Given the description of an element on the screen output the (x, y) to click on. 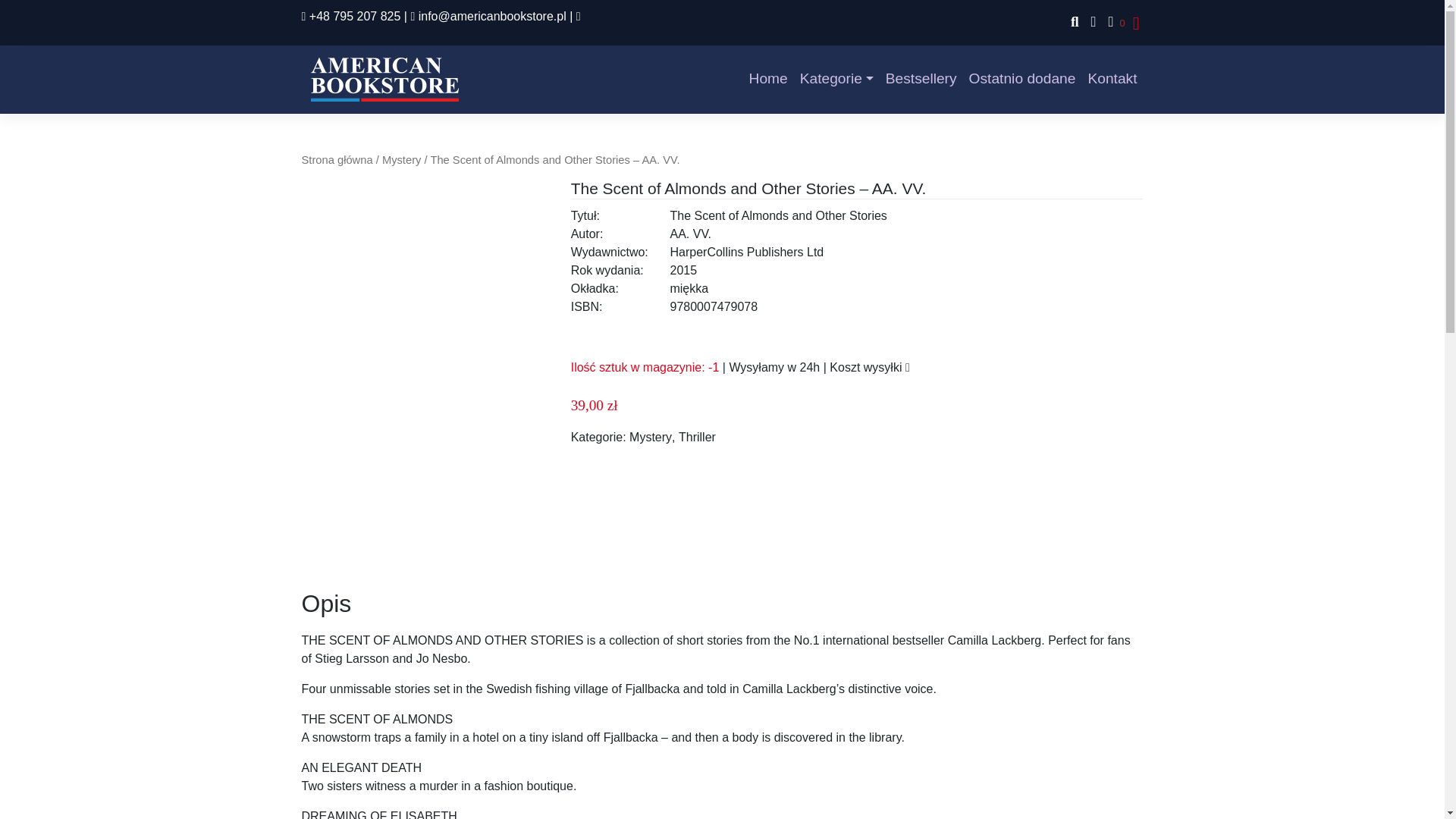
Kategorie (836, 79)
Home (767, 79)
Home (767, 79)
Kategorie (836, 79)
0 (1113, 22)
